Given the description of an element on the screen output the (x, y) to click on. 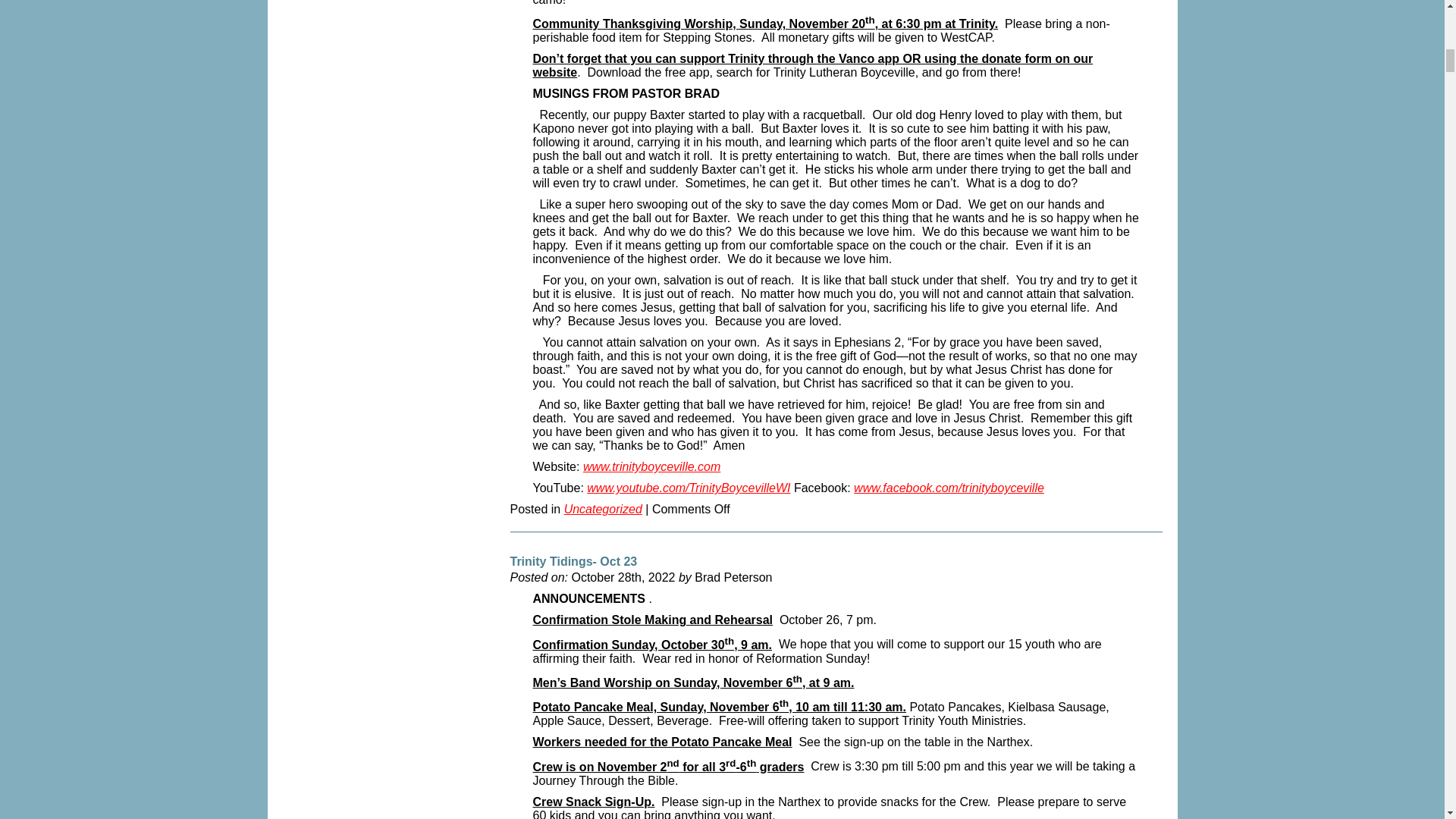
www.trinityboyceville.com (651, 469)
Uncategorized (603, 511)
Trinity Tidings- Oct 23 (573, 564)
